Given the description of an element on the screen output the (x, y) to click on. 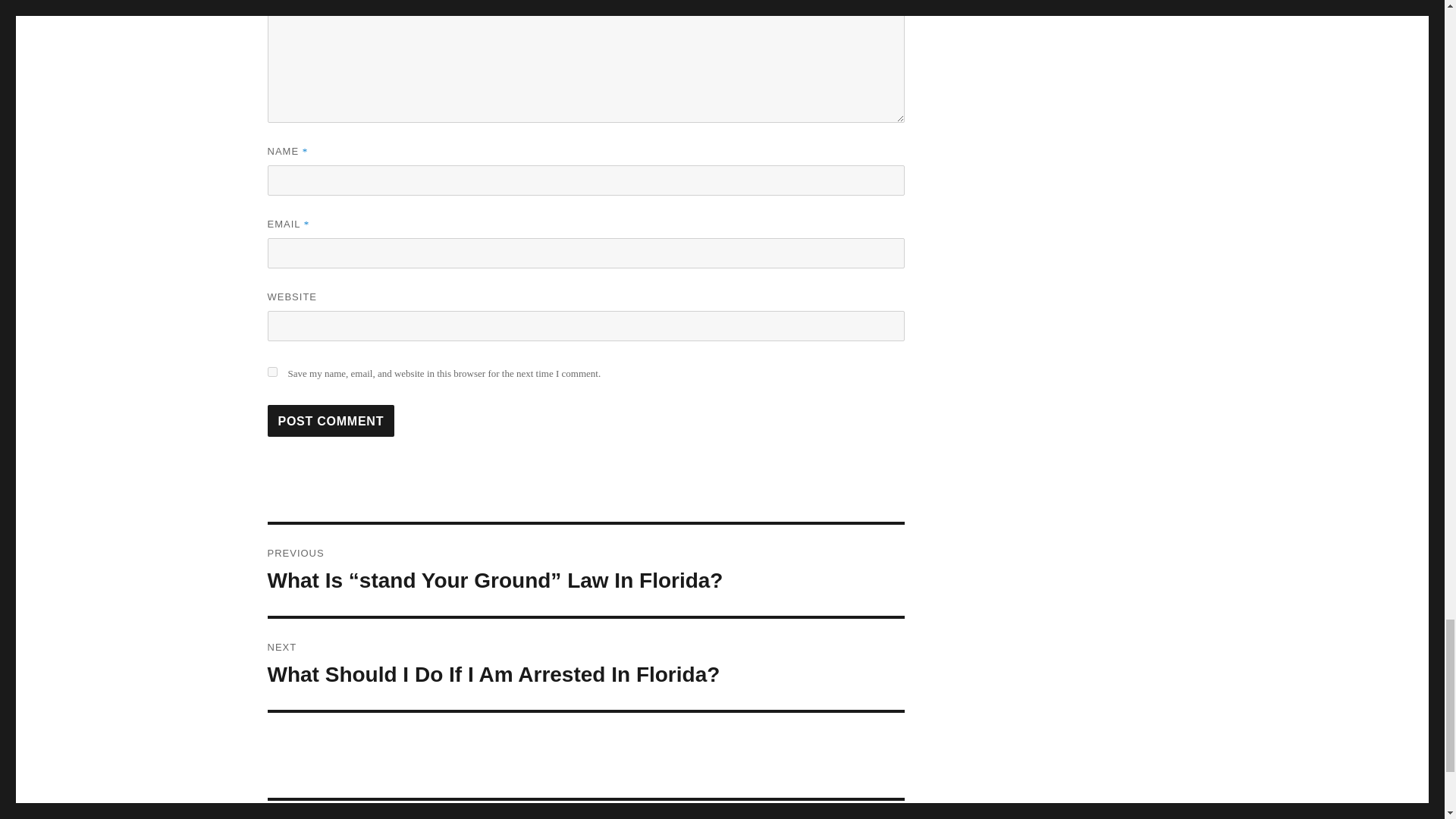
yes (271, 371)
Post Comment (330, 420)
Post Comment (330, 420)
